Given the description of an element on the screen output the (x, y) to click on. 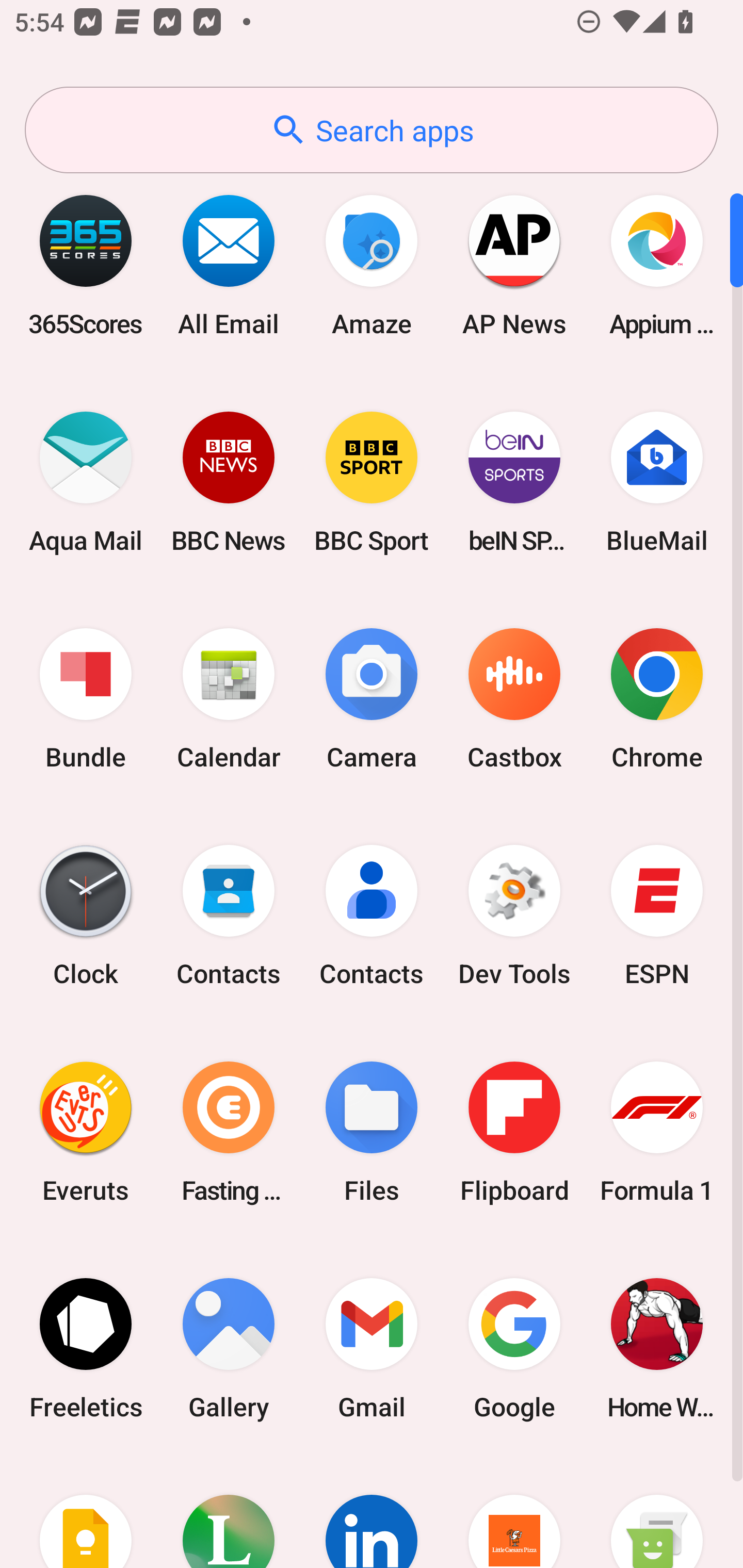
  Search apps (371, 130)
365Scores (85, 264)
All Email (228, 264)
Amaze (371, 264)
AP News (514, 264)
Appium Settings (656, 264)
Aqua Mail (85, 482)
BBC News (228, 482)
BBC Sport (371, 482)
beIN SPORTS (514, 482)
BlueMail (656, 482)
Bundle (85, 699)
Calendar (228, 699)
Camera (371, 699)
Castbox (514, 699)
Chrome (656, 699)
Clock (85, 915)
Contacts (228, 915)
Contacts (371, 915)
Dev Tools (514, 915)
ESPN (656, 915)
Everuts (85, 1131)
Fasting Coach (228, 1131)
Files (371, 1131)
Flipboard (514, 1131)
Formula 1 (656, 1131)
Freeletics (85, 1348)
Gallery (228, 1348)
Gmail (371, 1348)
Google (514, 1348)
Home Workout (656, 1348)
Keep Notes (85, 1512)
Lifesum (228, 1512)
LinkedIn (371, 1512)
Little Caesars Pizza (514, 1512)
Messaging (656, 1512)
